Given the description of an element on the screen output the (x, y) to click on. 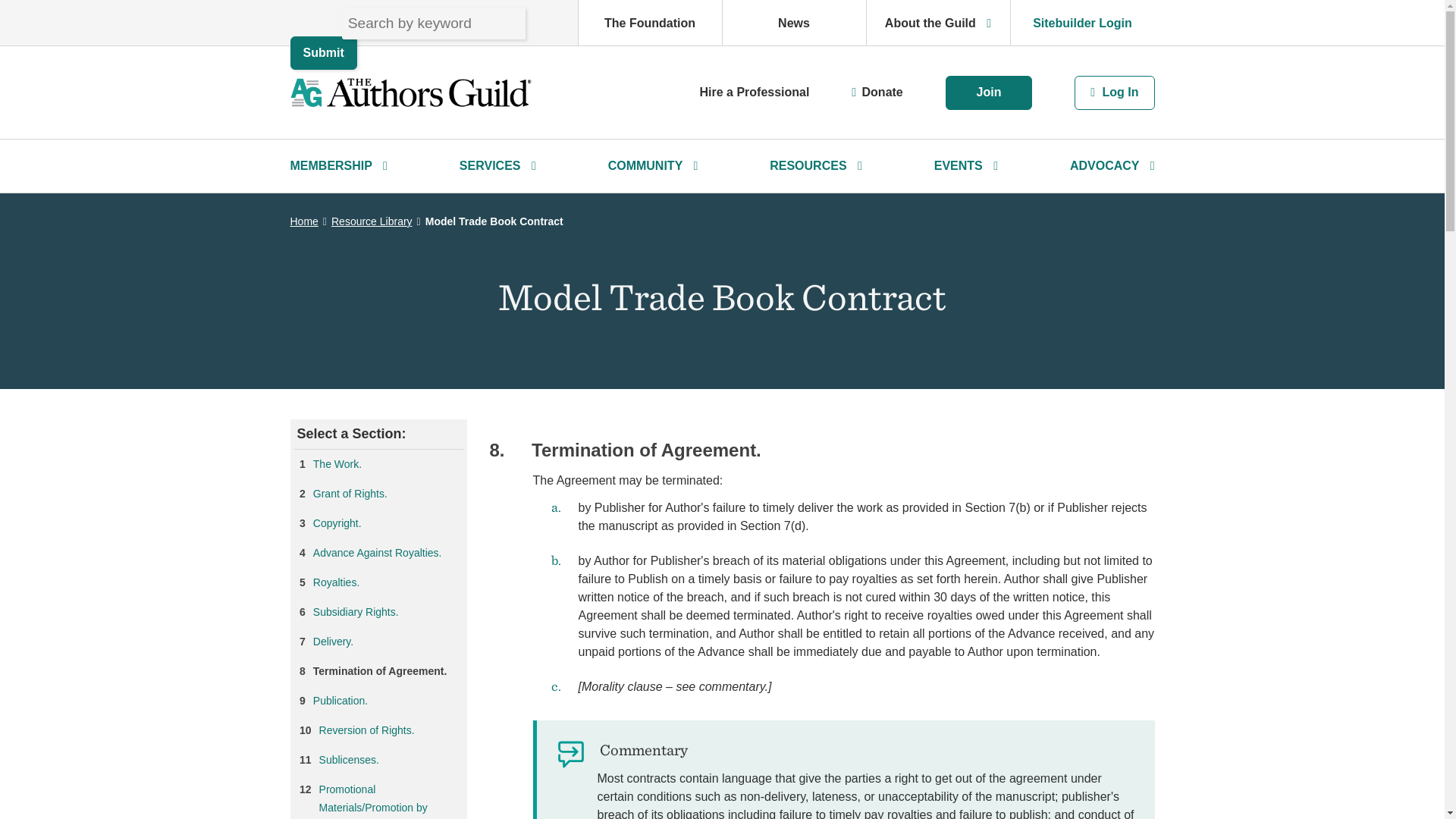
Donate (881, 91)
Join (988, 92)
Log In (1114, 92)
Join (988, 91)
Log In (1114, 91)
Hire a Professional (753, 91)
News (793, 22)
The Foundation (649, 22)
Submit (322, 52)
Sitebuilder Login (1082, 22)
